Given the description of an element on the screen output the (x, y) to click on. 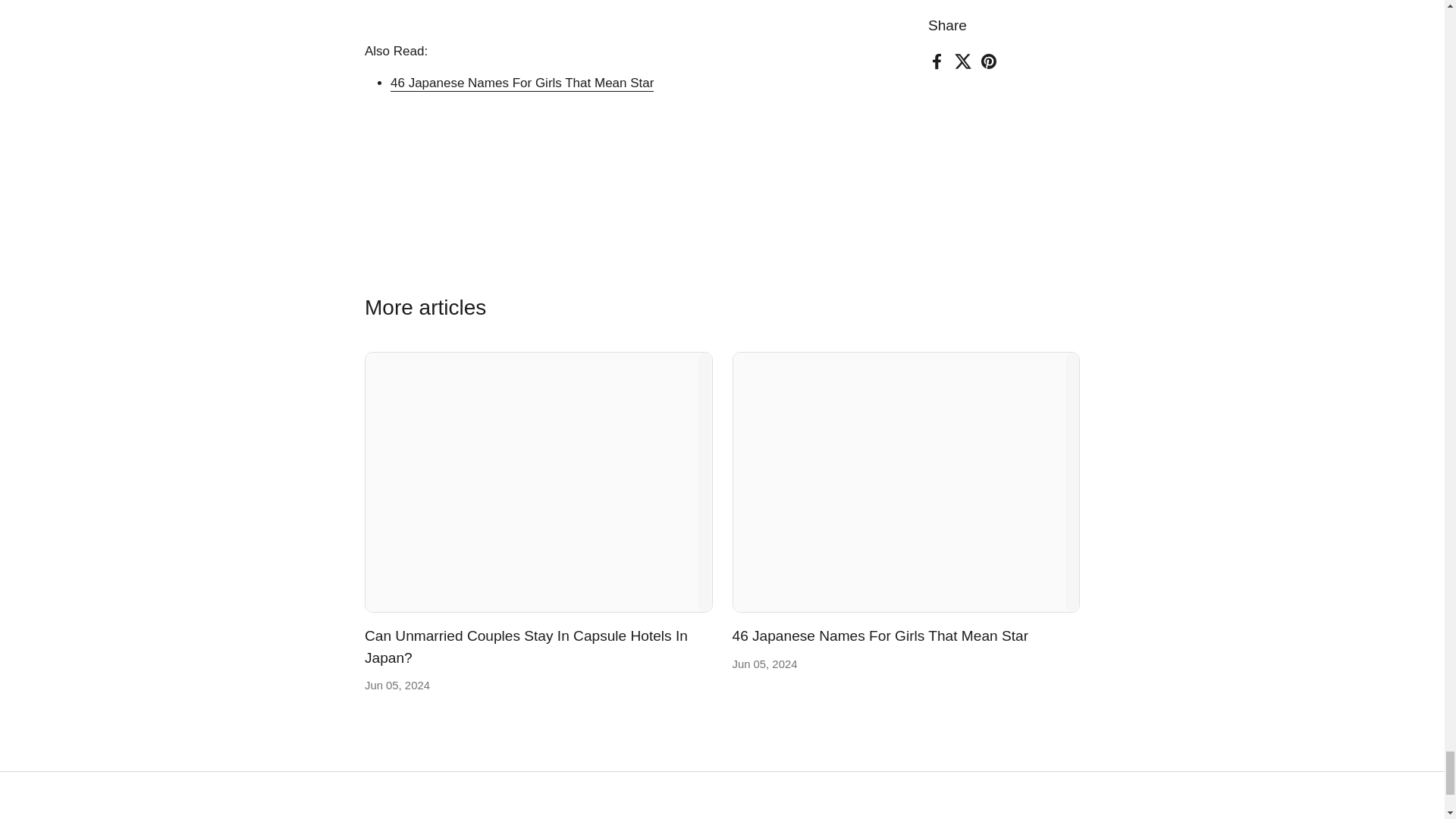
Can Unmarried Couples Stay In Capsule Hotels In Japan? (526, 647)
46 Japanese Names For Girls That Mean Star (880, 636)
Can Unmarried Couples Stay In Capsule Hotels In Japan? (539, 482)
46 Japanese Names For Girls That Mean Star (906, 482)
Can Unmarried Couples Stay In Capsule Hotels In Japan? (526, 647)
46 Japanese Names For Girls That Mean Star (880, 636)
46 Japanese Names For Girls That Mean Star (521, 83)
